Given the description of an element on the screen output the (x, y) to click on. 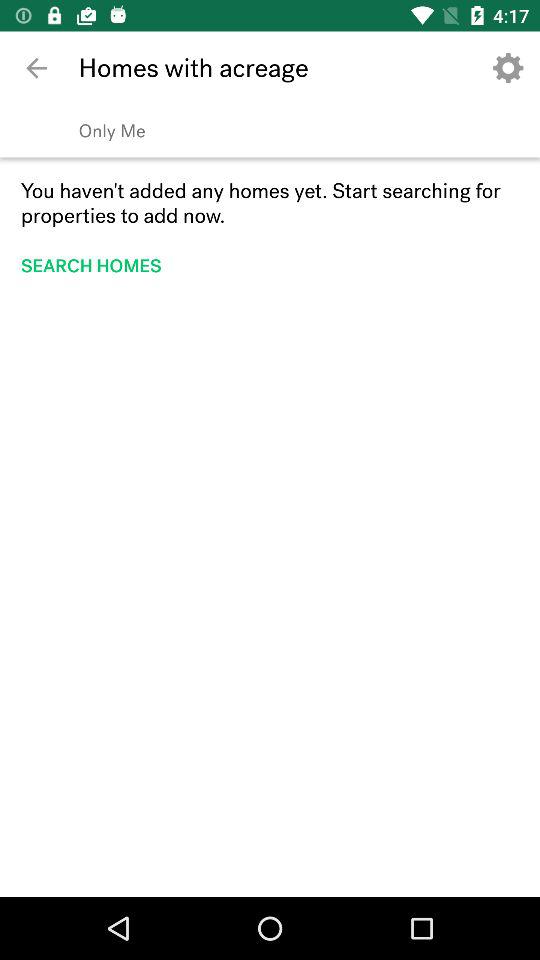
tap item to the left of homes with acreage app (36, 68)
